Given the description of an element on the screen output the (x, y) to click on. 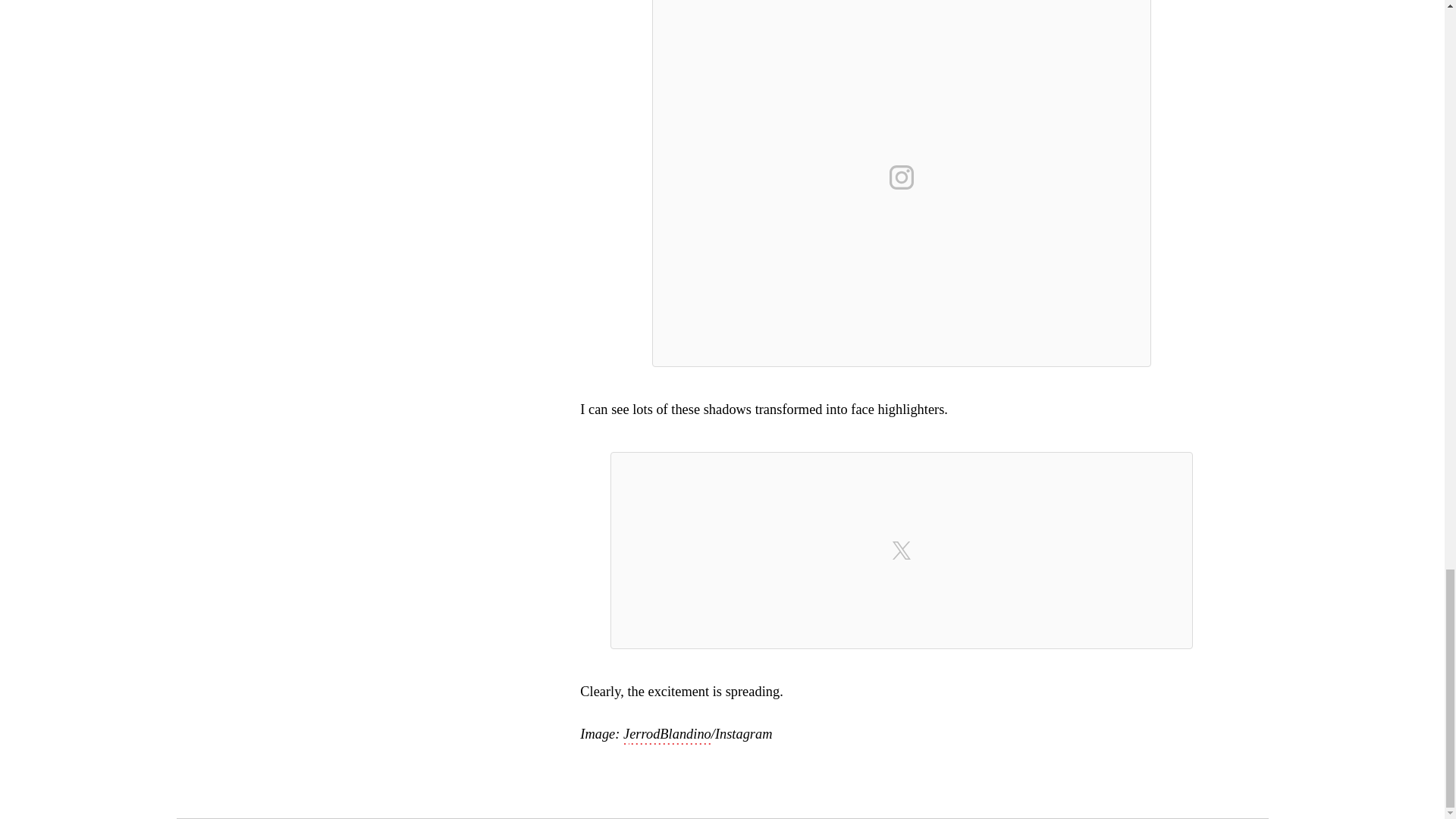
View on Instagram (901, 176)
errodBlandino (669, 735)
